Given the description of an element on the screen output the (x, y) to click on. 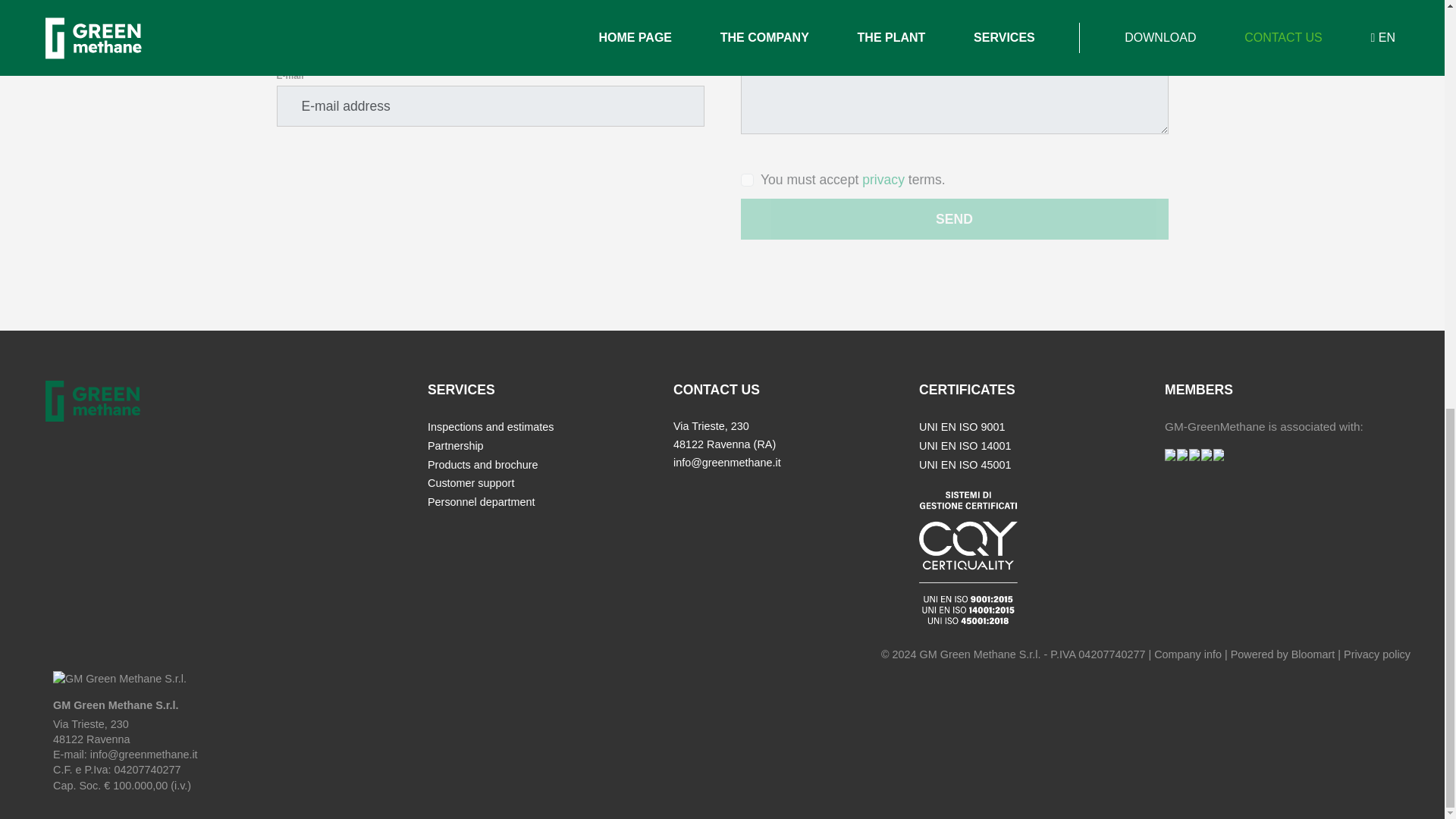
SEND (953, 219)
Privacy policy (1376, 654)
Products and brochure (483, 464)
UNI EN ISO 14001 (964, 445)
true (746, 180)
UNI EN ISO 9001 (962, 426)
Powered by Bloomart (1282, 654)
Customer support (470, 482)
Inspections and estimates (490, 426)
UNI EN ISO 45001 (964, 464)
